Given the description of an element on the screen output the (x, y) to click on. 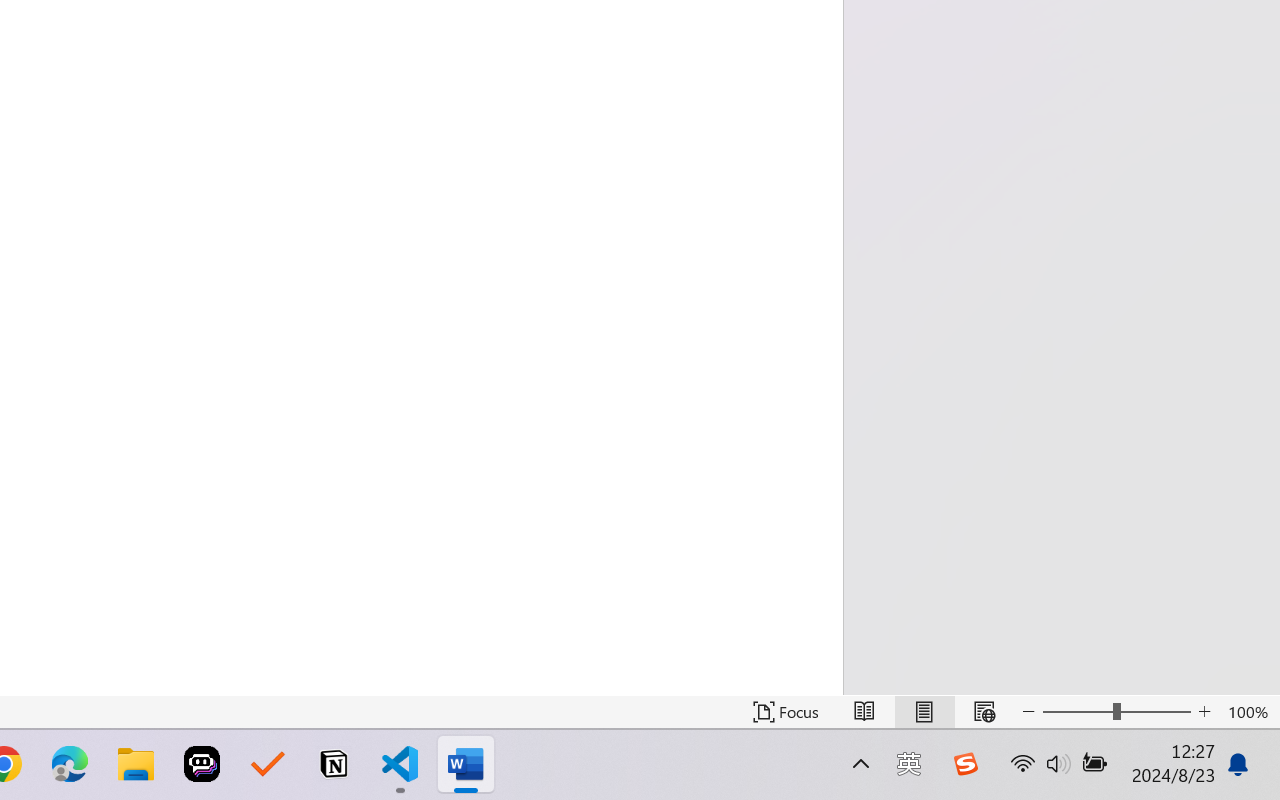
Zoom 100% (1249, 712)
